Given the description of an element on the screen output the (x, y) to click on. 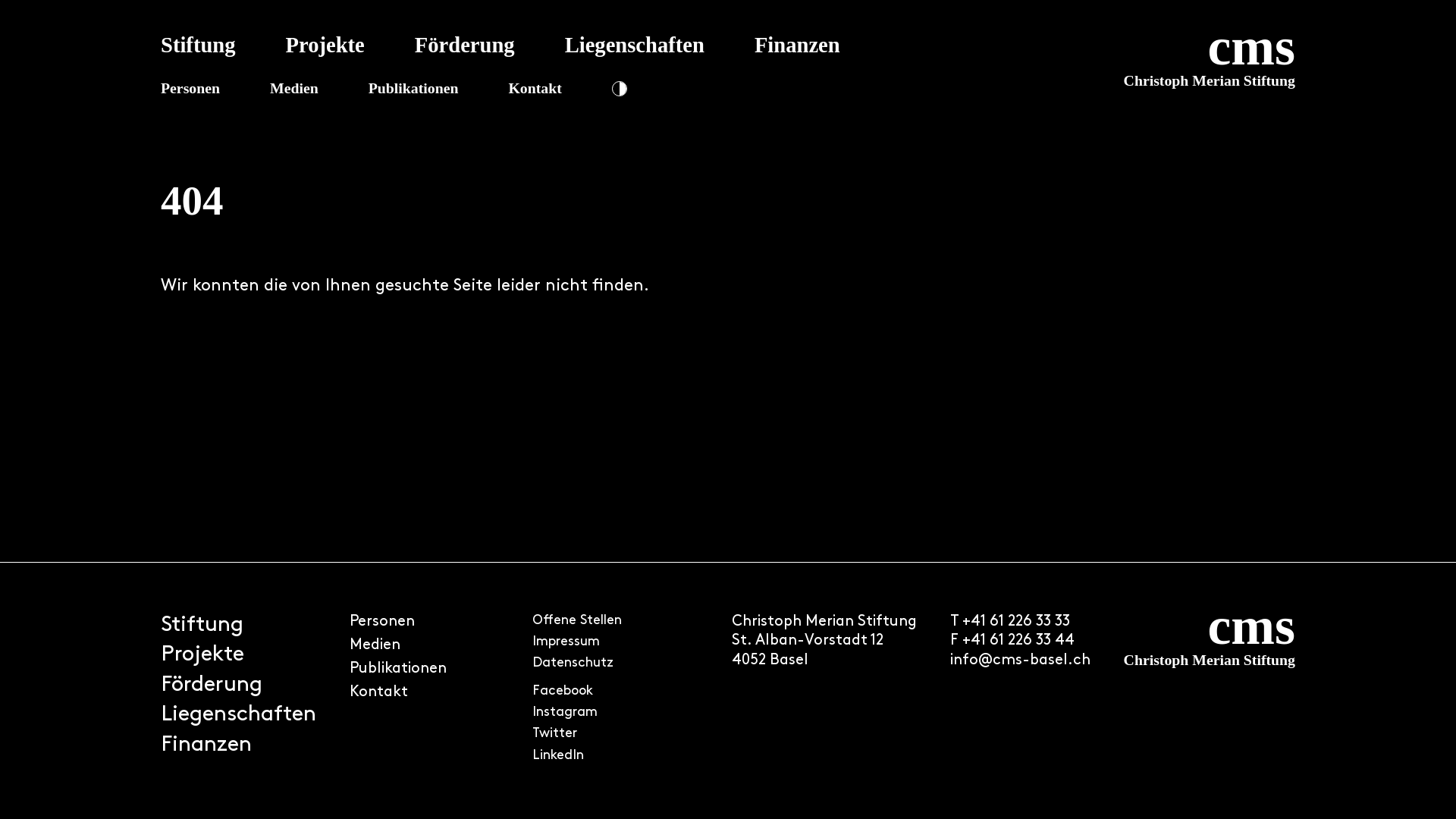
info@cms-basel.ch Element type: text (1020, 661)
Instagram Element type: text (564, 712)
LinkedIn Element type: text (557, 756)
Twitter Element type: text (554, 734)
Stiftung Element type: text (201, 625)
Finanzen Element type: text (797, 45)
Impressum Element type: text (565, 642)
Projekte Element type: text (324, 45)
cms
Christoph Merian Stiftung Element type: text (1209, 690)
+41 61 226 33 33 Element type: text (1016, 622)
Liegenschaften Element type: text (634, 45)
Personen Element type: text (189, 88)
Medien Element type: text (293, 88)
Kontakt Element type: text (534, 88)
Offene Stellen Element type: text (576, 621)
Facebook Element type: text (562, 690)
Datenschutz Element type: text (572, 663)
Finanzen Element type: text (205, 745)
Projekte Element type: text (202, 655)
Publikationen Element type: text (413, 88)
Medien Element type: text (374, 645)
Publikationen Element type: text (397, 669)
Liegenschaften Element type: text (238, 715)
Stiftung Element type: text (197, 45)
Kontakt Element type: text (378, 692)
Personen Element type: text (381, 622)
cms
Christoph Merian Stiftung Element type: text (1067, 69)
